Given the description of an element on the screen output the (x, y) to click on. 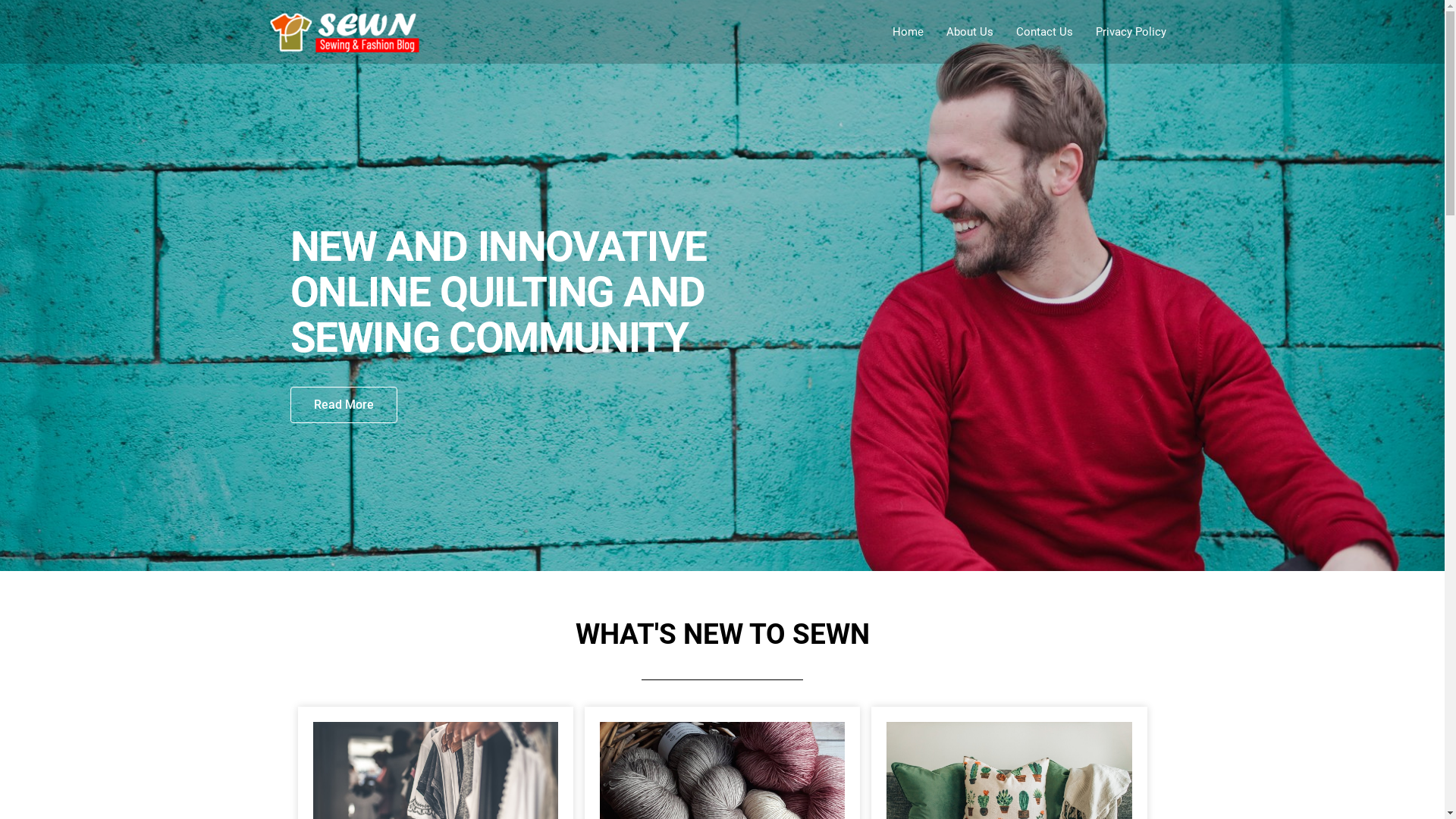
Read More Element type: text (342, 404)
Contact Us Element type: text (1043, 31)
About Us Element type: text (969, 31)
Home Element type: text (908, 31)
Privacy Policy Element type: text (1130, 31)
